Given the description of an element on the screen output the (x, y) to click on. 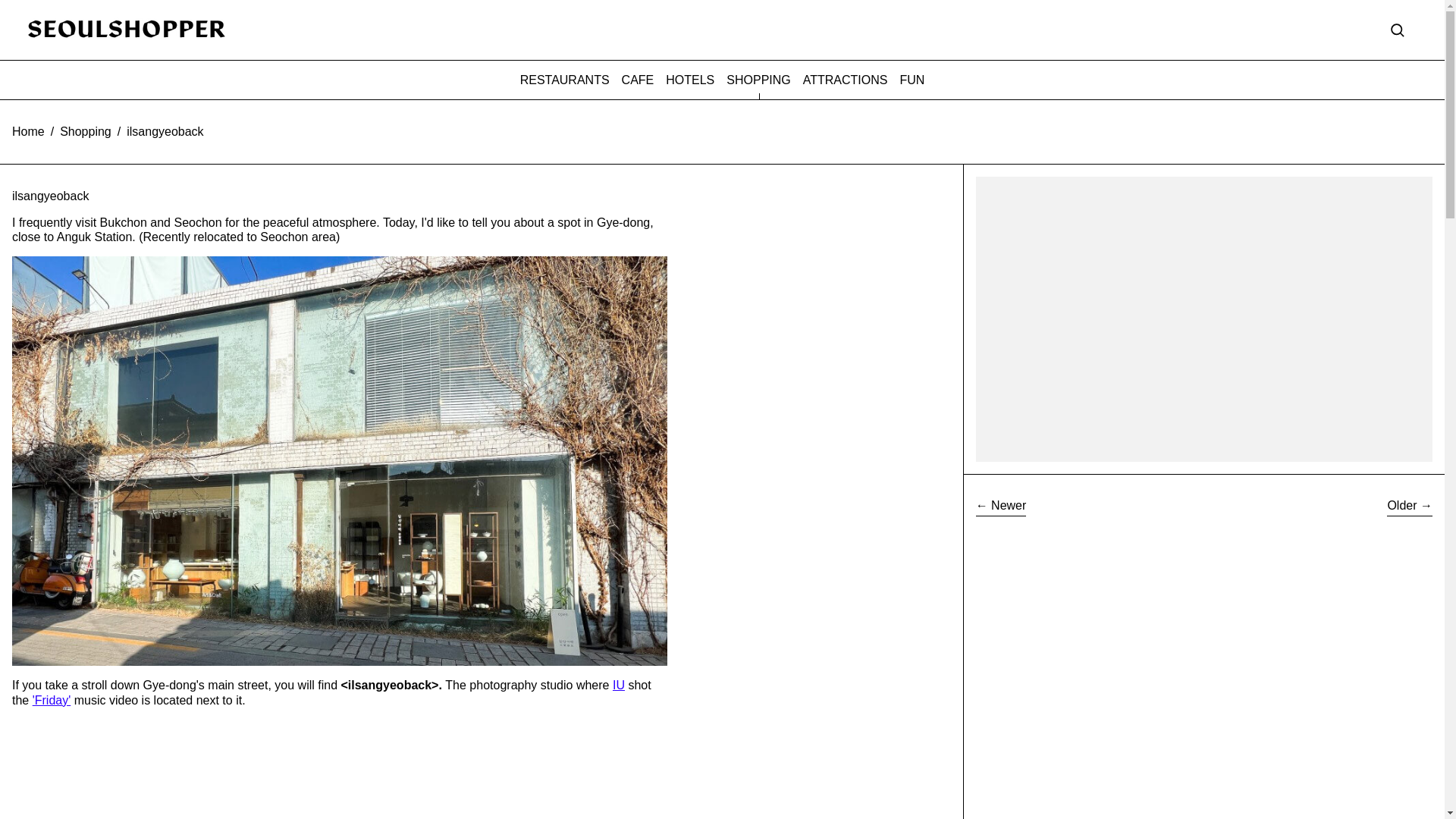
'Friday' (51, 699)
FUN (911, 79)
Newer (1000, 506)
iu kpop singer (618, 684)
ilsangyeoback (164, 131)
ATTRACTIONS (845, 79)
Older (1409, 506)
RESTAURANTS (564, 79)
SHOPPING (758, 79)
IU (618, 684)
